Given the description of an element on the screen output the (x, y) to click on. 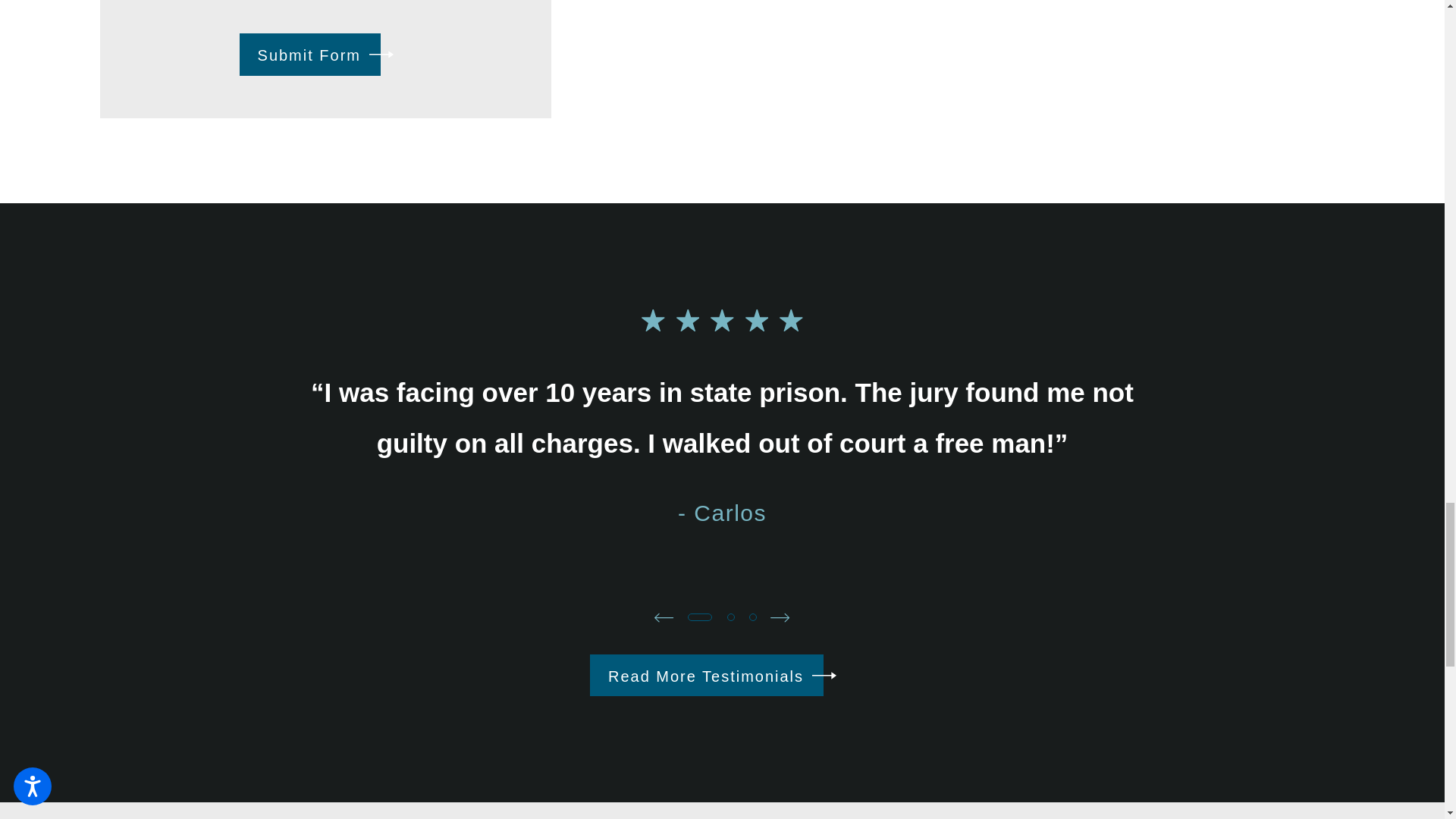
View Item 2 (729, 616)
View Item 1 (699, 616)
View next item (779, 617)
View Item 3 (753, 616)
View previous item (662, 617)
